Given the description of an element on the screen output the (x, y) to click on. 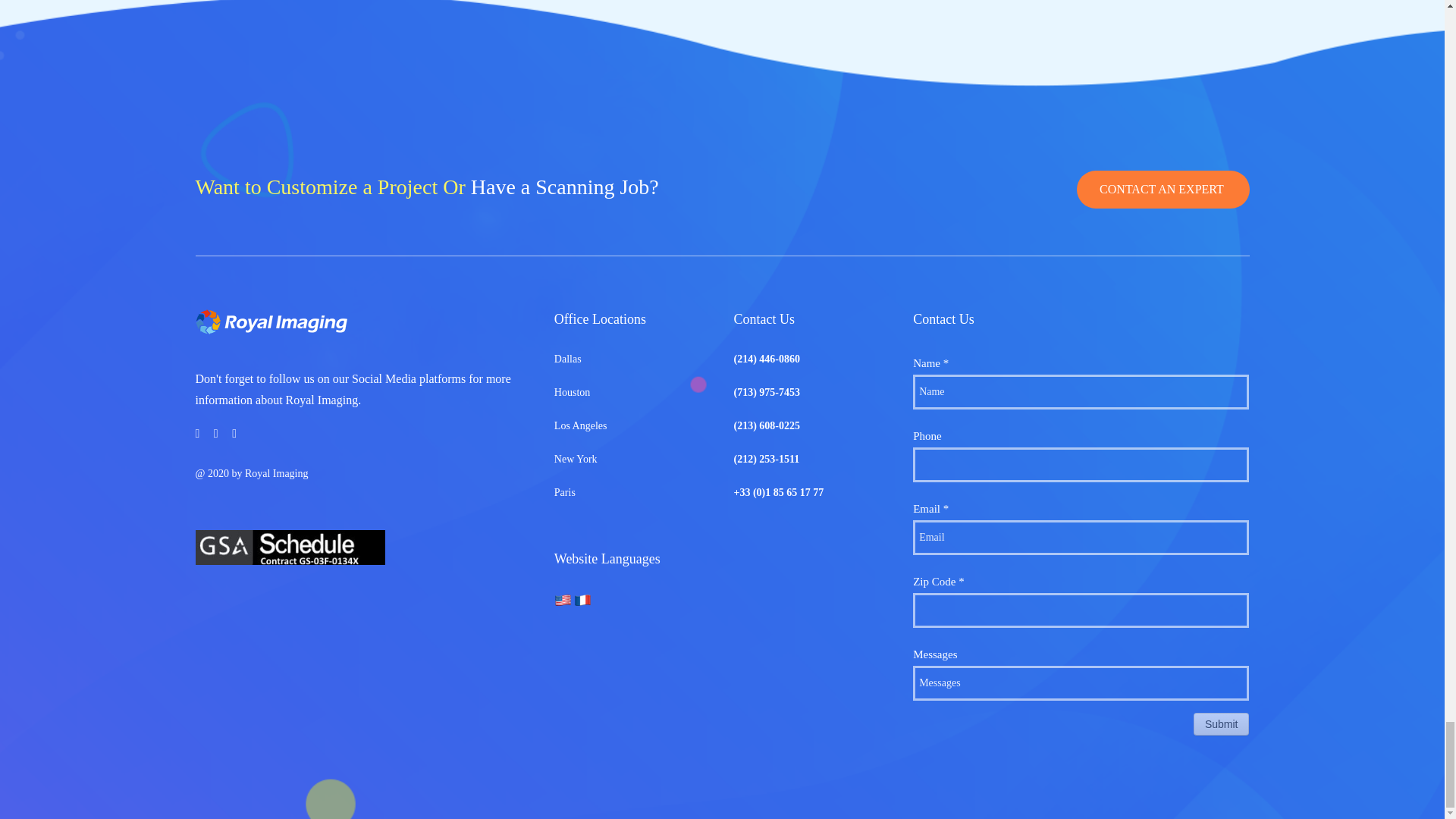
Submit (1221, 723)
